Given the description of an element on the screen output the (x, y) to click on. 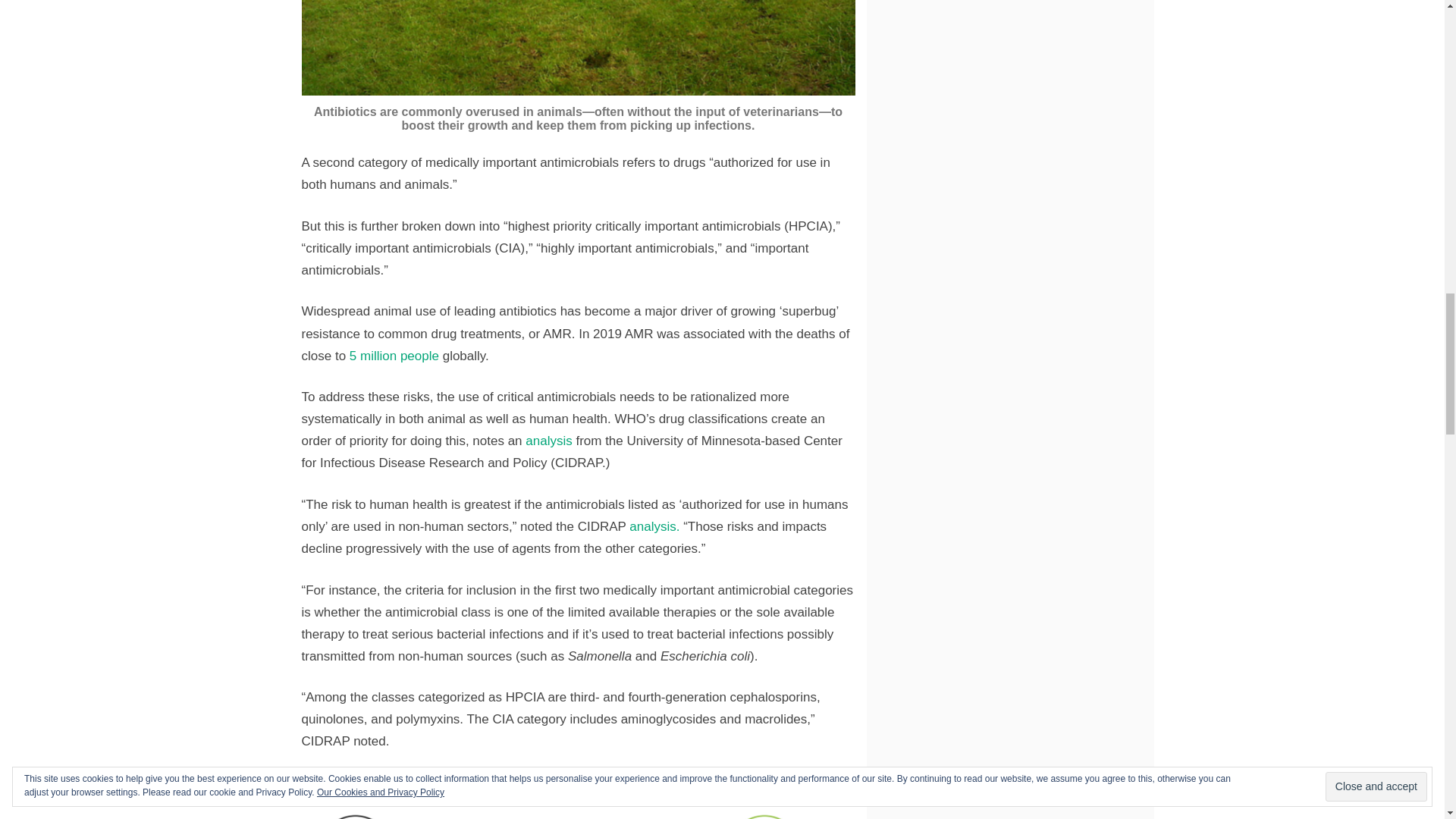
analysis. (653, 526)
5 million people (394, 355)
analysis (550, 440)
